Given the description of an element on the screen output the (x, y) to click on. 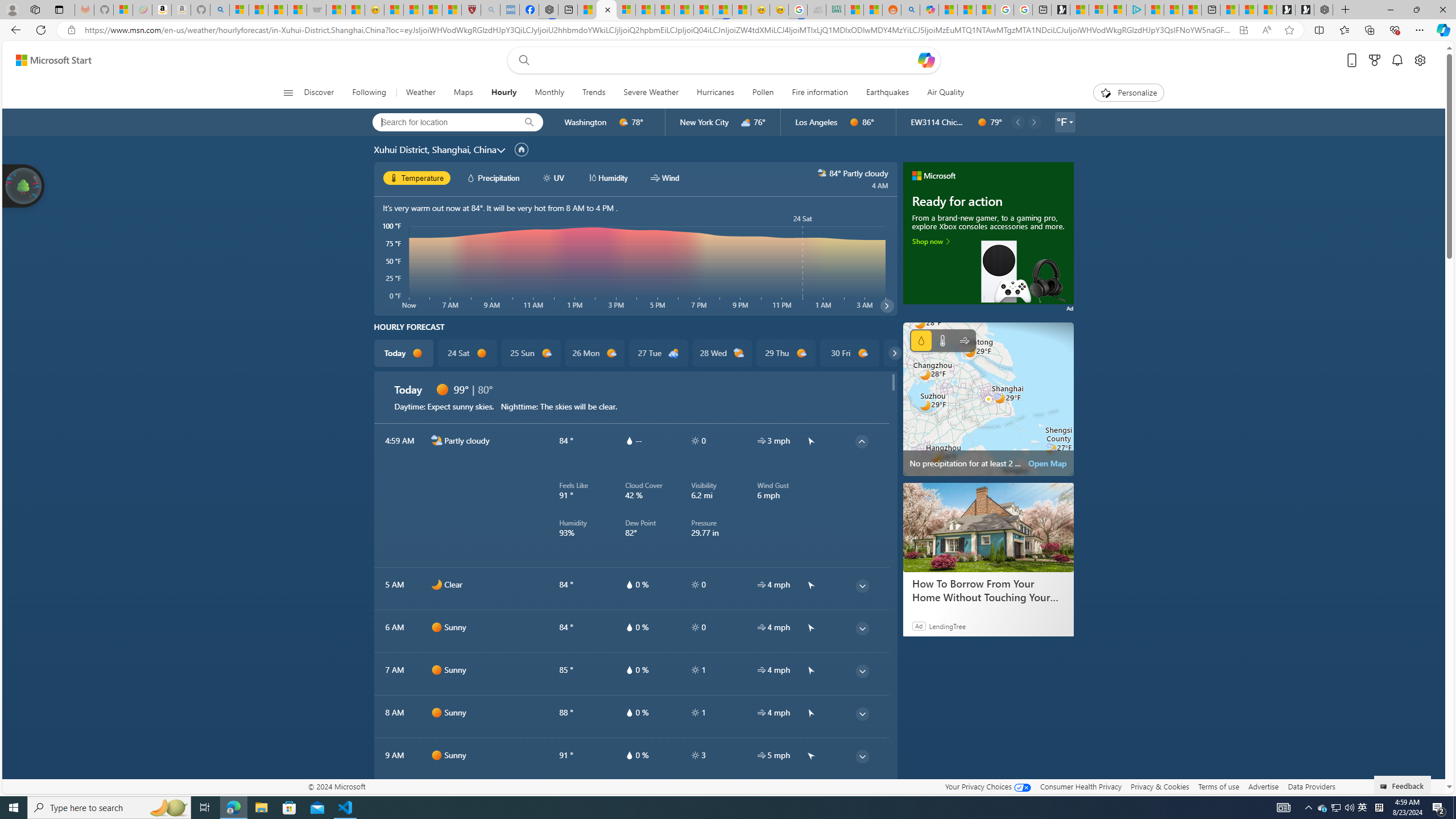
Your Privacy Choices (987, 785)
hourlyChart/humidityWhite (591, 177)
Pollen (762, 92)
Xuhui District, Shanghai, China (435, 149)
Hourly (503, 92)
Air Quality (945, 92)
